Given the description of an element on the screen output the (x, y) to click on. 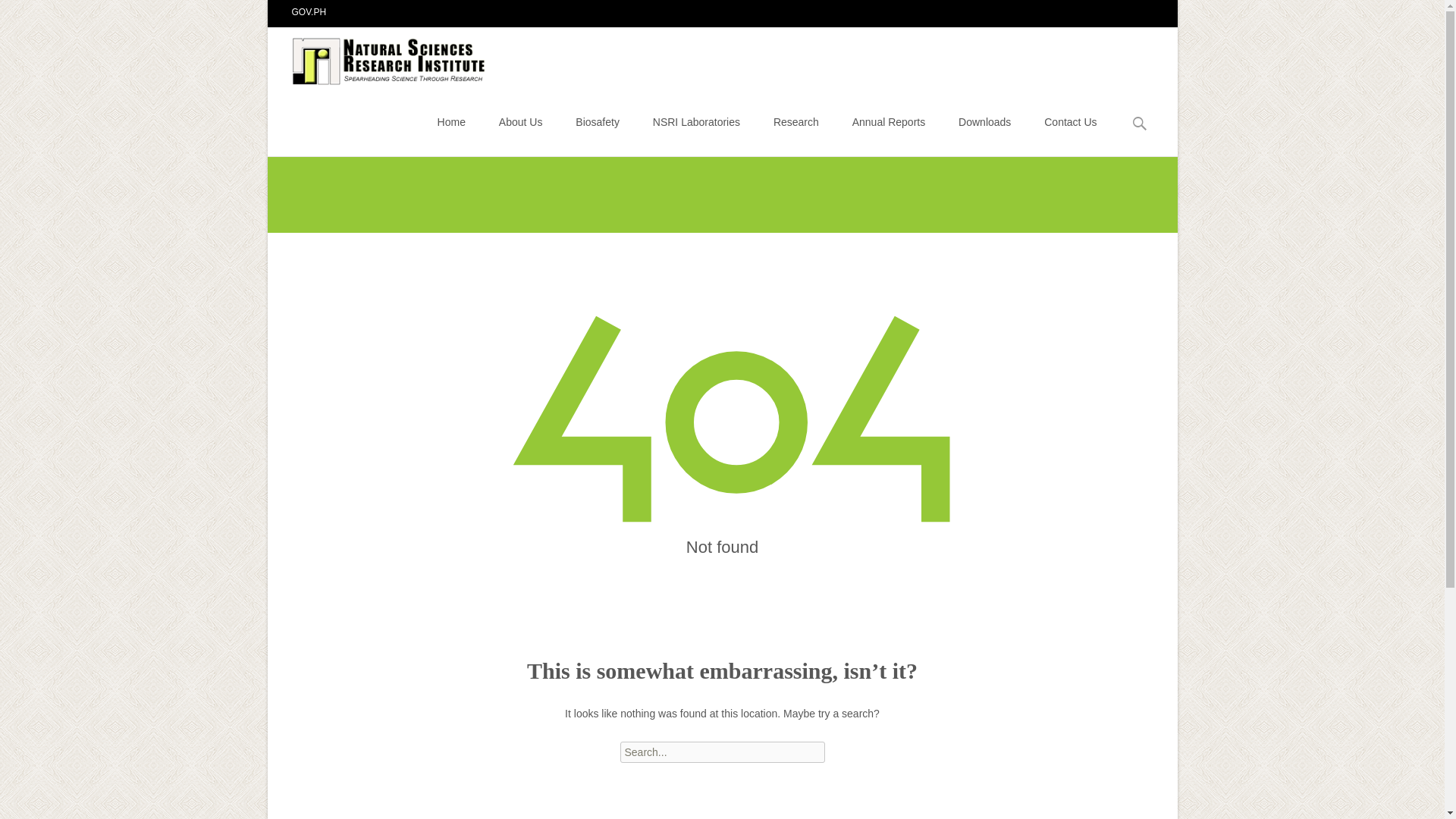
Natural Sciences Research Institute (378, 57)
Annual Reports (888, 121)
Search (34, 14)
GOV.PH (308, 11)
Search (18, 14)
Search for: (1139, 123)
Search for: (722, 752)
NSRI Laboratories (695, 121)
